Given the description of an element on the screen output the (x, y) to click on. 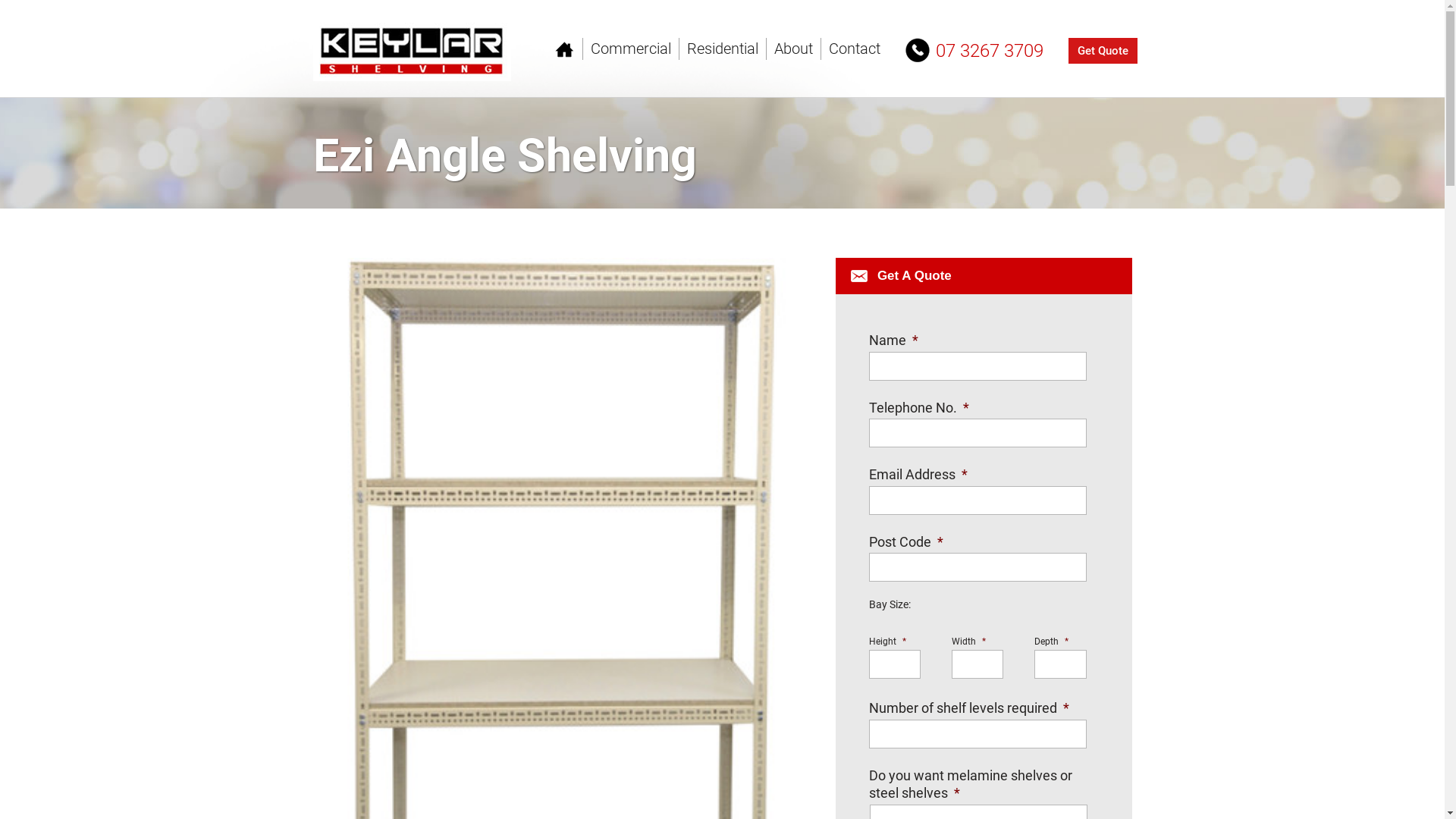
Commercial Element type: text (630, 48)
Contact Element type: text (850, 48)
Get Quote Element type: text (1102, 50)
Residential Element type: text (722, 48)
Home Element type: text (569, 48)
About Element type: text (793, 48)
